Given the description of an element on the screen output the (x, y) to click on. 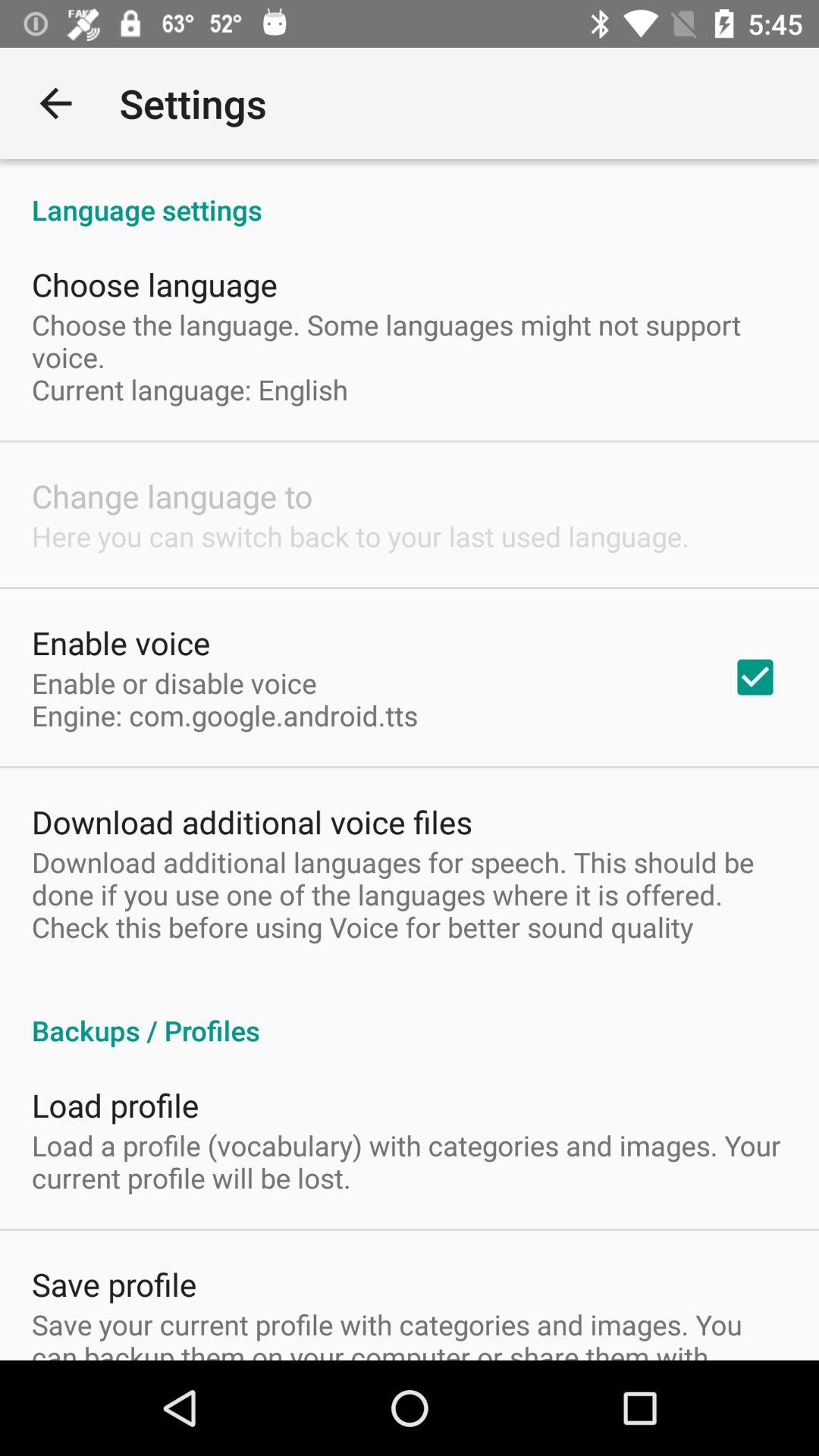
click item to the right of the enable or disable item (755, 677)
